Given the description of an element on the screen output the (x, y) to click on. 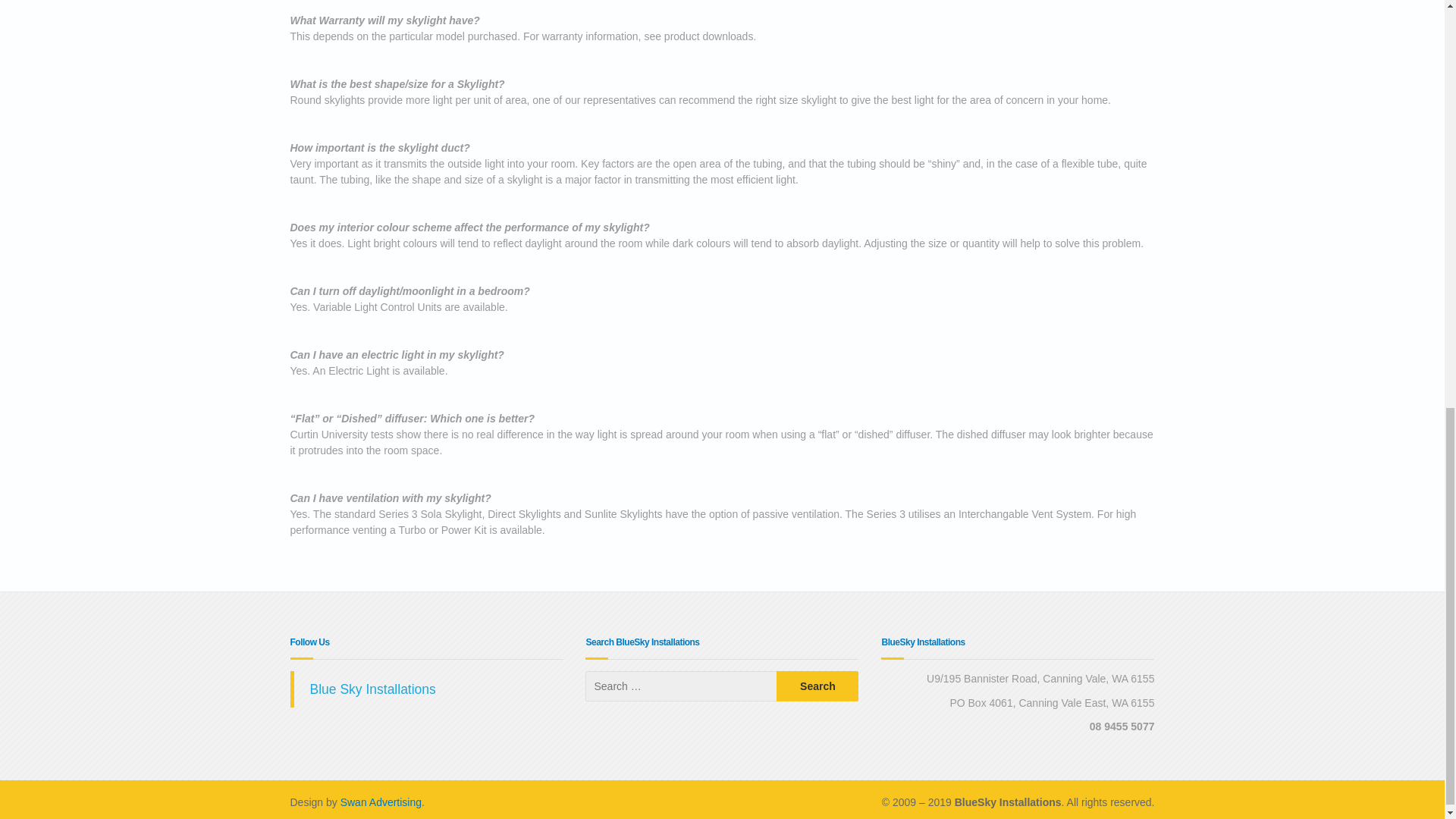
Search (817, 685)
Search (817, 685)
Search (817, 685)
Swan Advertising (381, 802)
Blue Sky Installations (371, 688)
